Given the description of an element on the screen output the (x, y) to click on. 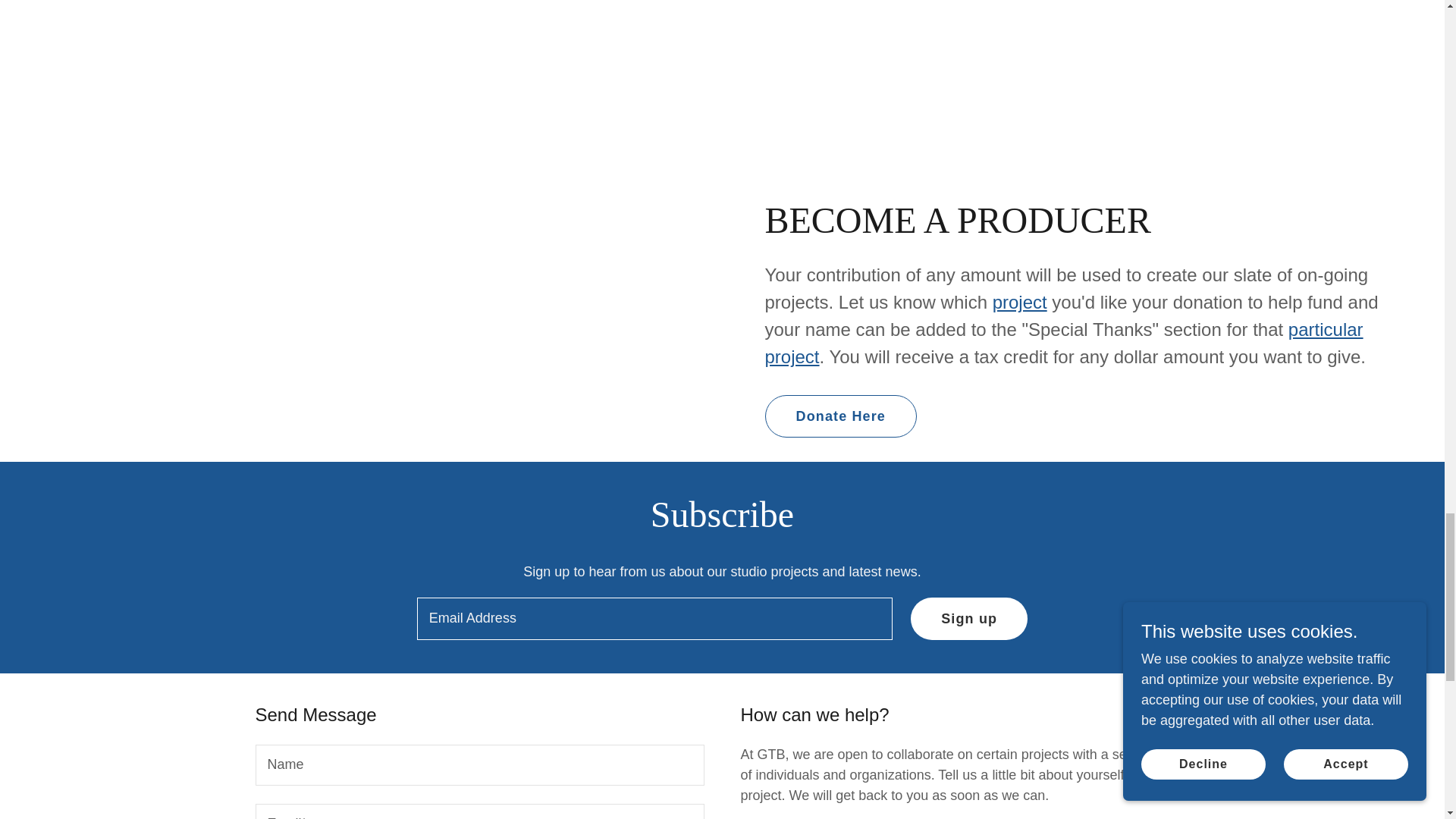
project (1019, 301)
Donate Here (840, 415)
Sign up (969, 618)
particular project (1063, 342)
